Given the description of an element on the screen output the (x, y) to click on. 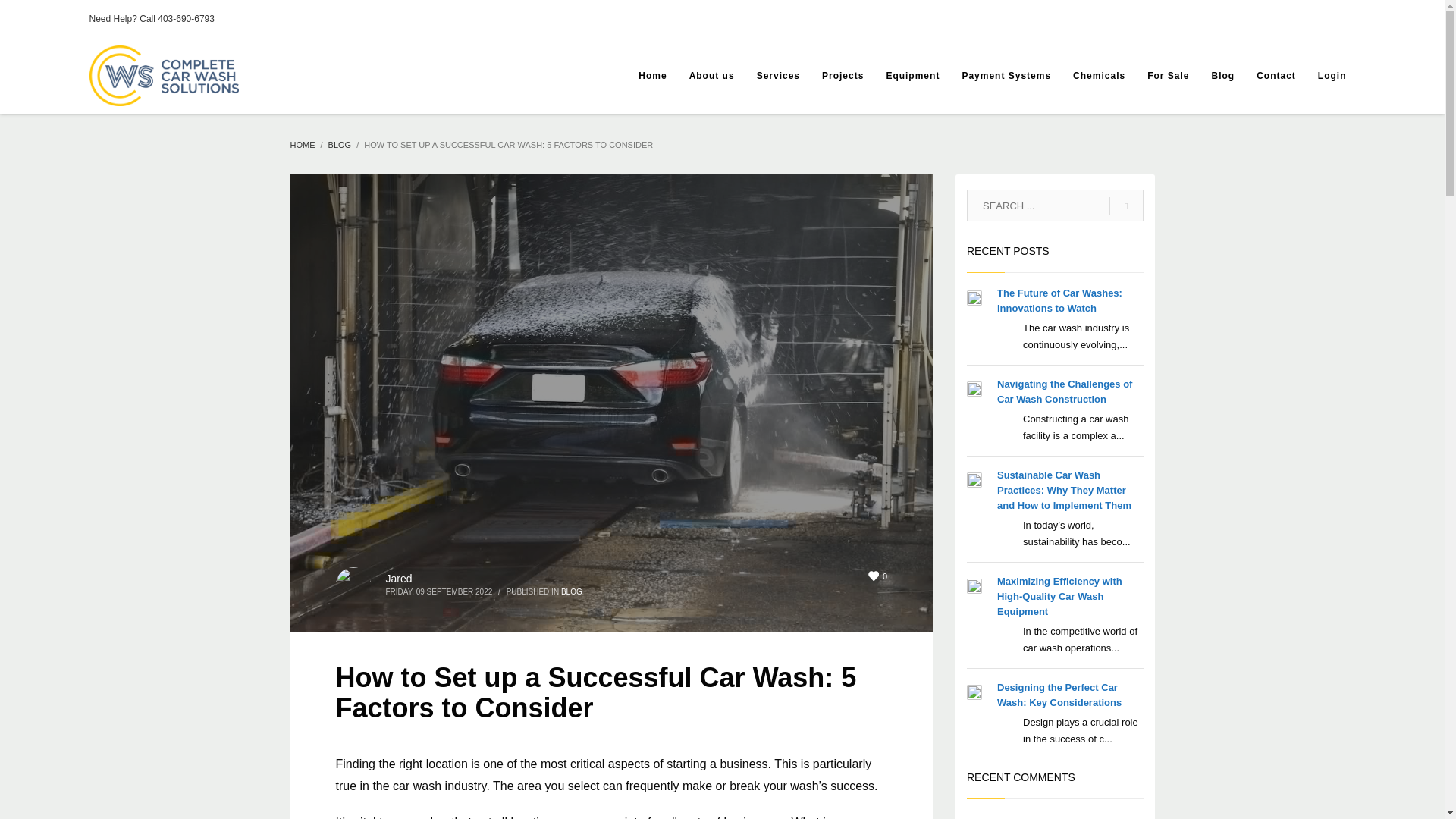
Equipment (912, 75)
Services (778, 75)
Payment Systems (1005, 75)
Canadas Leading Car Wash Provider (163, 75)
Navigating the Challenges of Car Wash Construction (1064, 391)
Home (651, 75)
About us (711, 75)
The Future of Car Washes: Innovations to Watch (1059, 300)
Posts by Jared (398, 578)
